Given the description of an element on the screen output the (x, y) to click on. 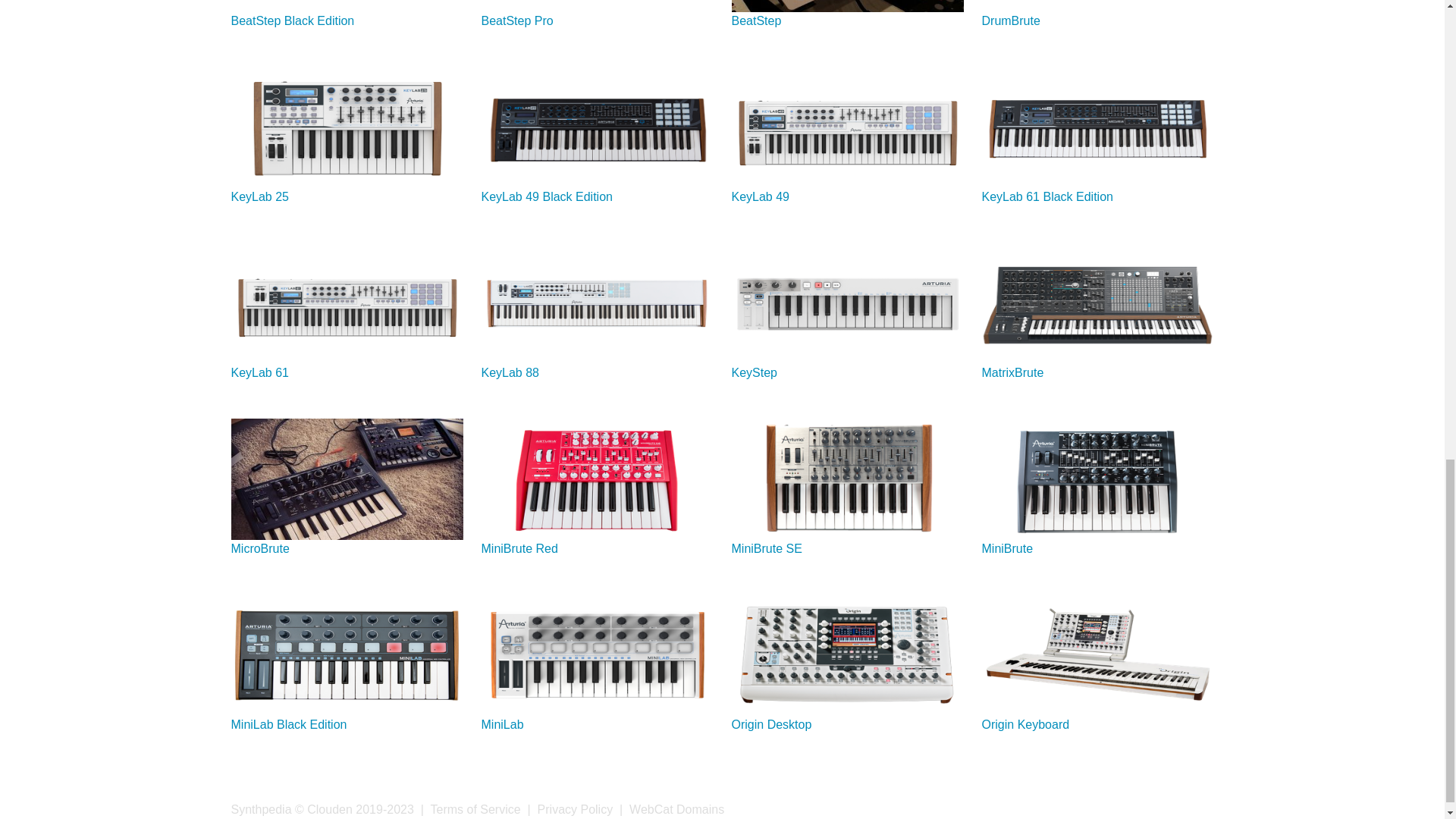
MatrixBrute (1012, 372)
KeyLab 61 (259, 372)
MiniBrute SE (766, 548)
KeyStep (753, 372)
BeatStep Black Edition (291, 20)
KeyLab 61 Black Edition (1046, 196)
KeyLab 49 (759, 196)
BeatStep Pro (516, 20)
BeatStep (755, 20)
MiniBrute Red (518, 548)
DrumBrute (1010, 20)
KeyLab 88 (509, 372)
KeyLab 25 (259, 196)
KeyLab 49 Black Edition (545, 196)
MicroBrute (259, 548)
